Given the description of an element on the screen output the (x, y) to click on. 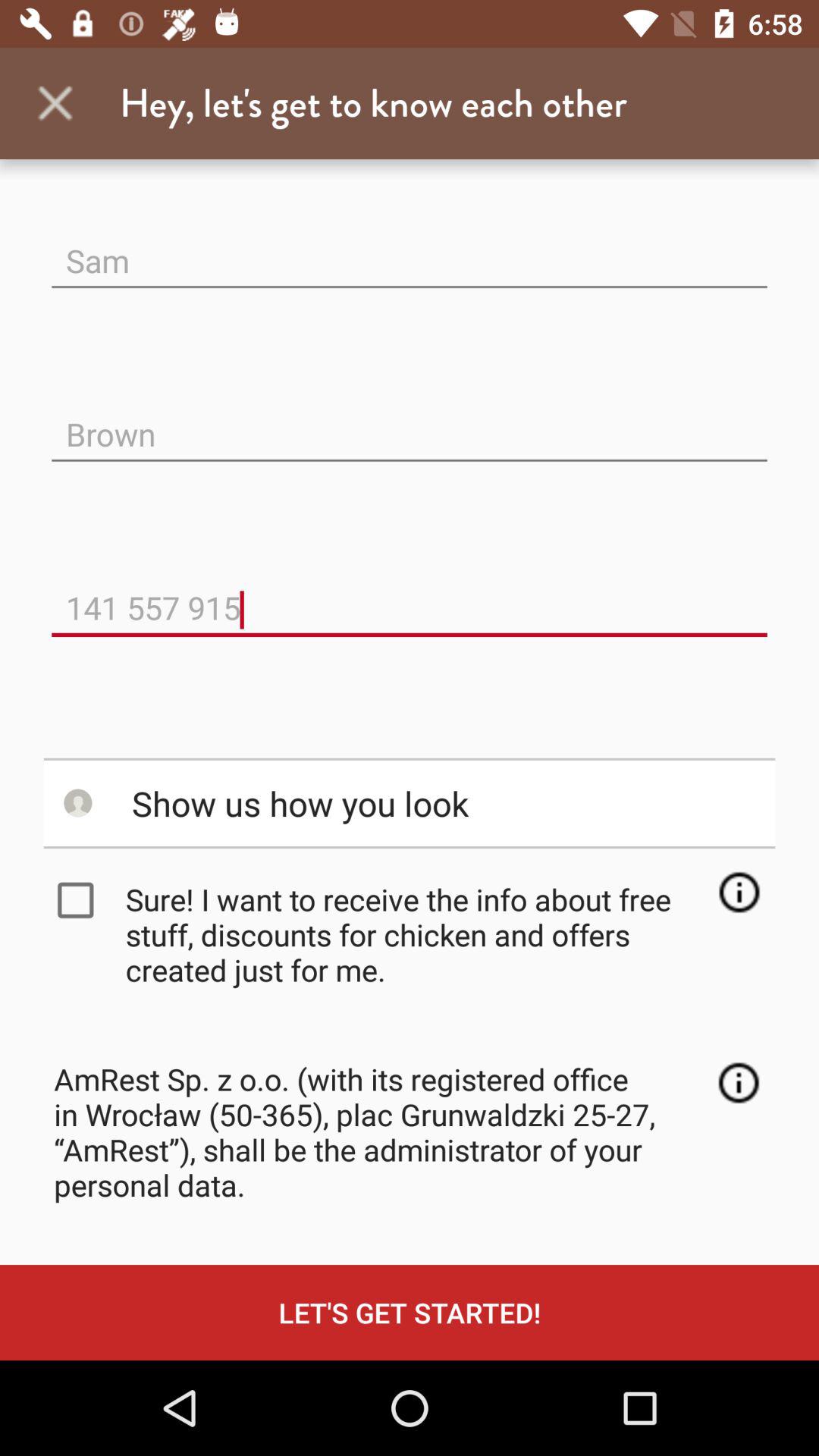
turn on app next to hey let s (55, 103)
